Given the description of an element on the screen output the (x, y) to click on. 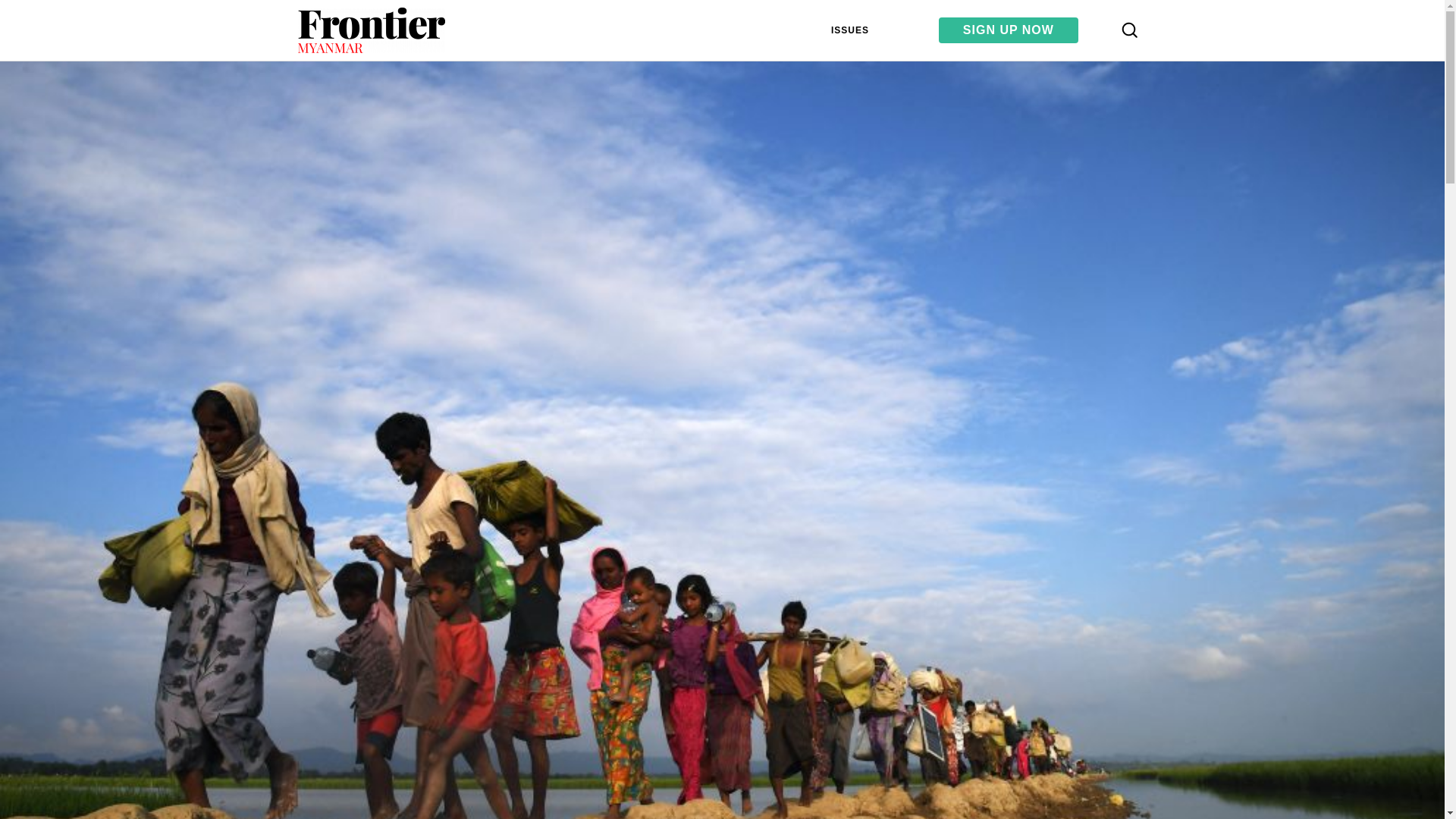
SIGN UP NOW (1008, 30)
logo-black-big (370, 30)
ISSUES (849, 30)
